Given the description of an element on the screen output the (x, y) to click on. 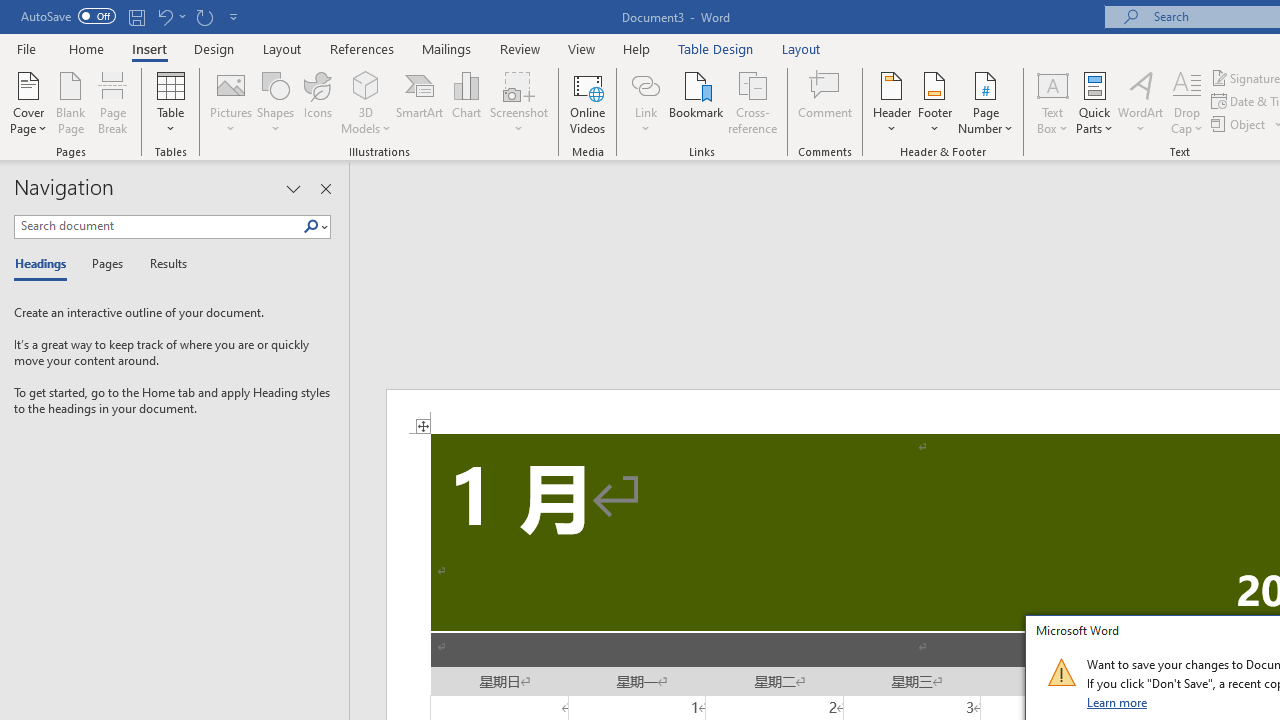
Text Box (1052, 102)
Cross-reference... (752, 102)
Icons (317, 102)
